Given the description of an element on the screen output the (x, y) to click on. 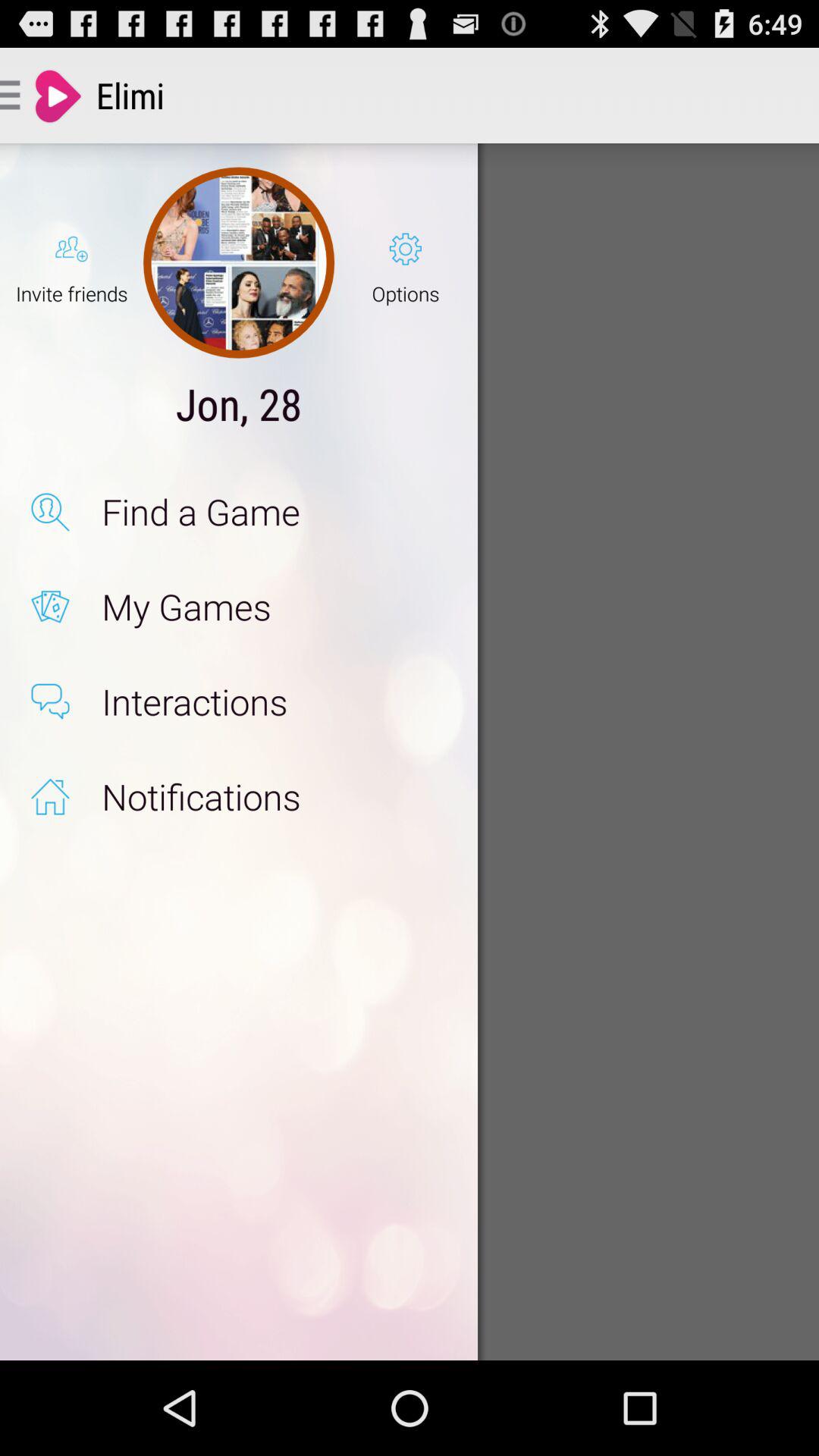
tap the options item (405, 262)
